Given the description of an element on the screen output the (x, y) to click on. 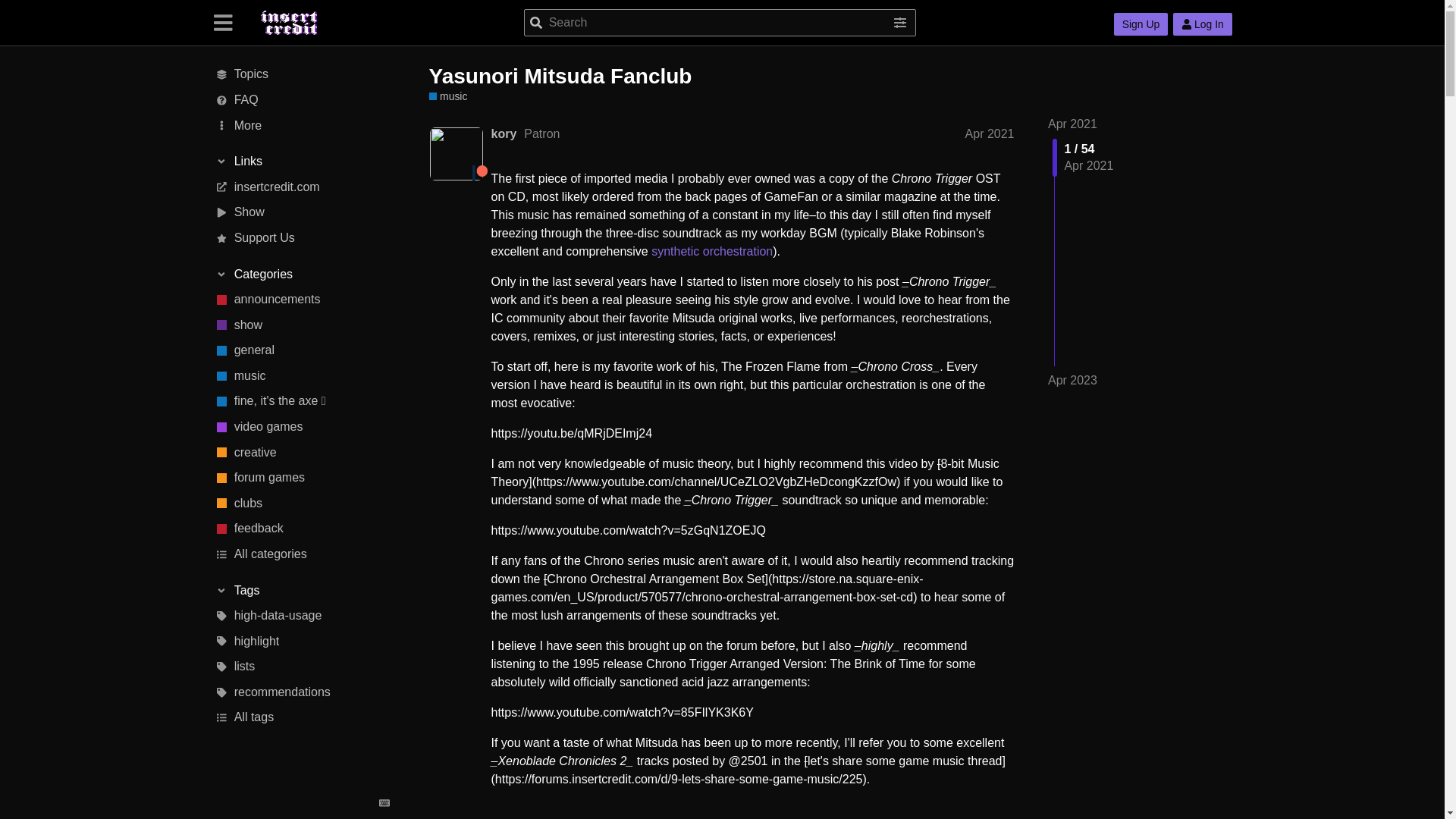
Topics (301, 74)
music (448, 96)
music (301, 376)
All categories (301, 554)
clubs (301, 503)
Guidelines for using this site (301, 99)
recommendations (301, 692)
Toggle section (302, 274)
forum games (301, 478)
Yasunori Mitsuda Fanclub (561, 75)
